Given the description of an element on the screen output the (x, y) to click on. 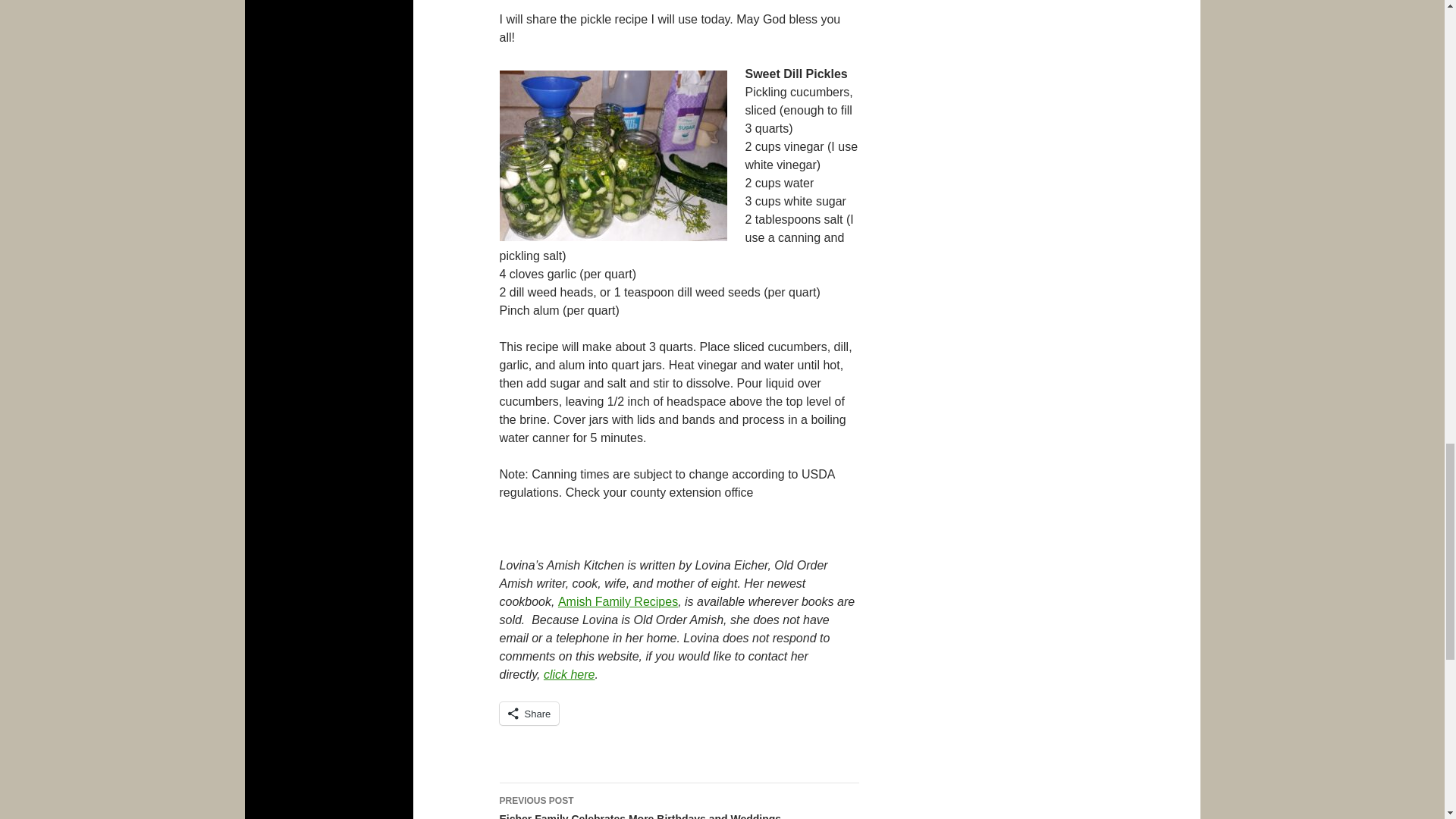
Amish Family Recipes (617, 601)
click here (569, 674)
Share (529, 712)
